Given the description of an element on the screen output the (x, y) to click on. 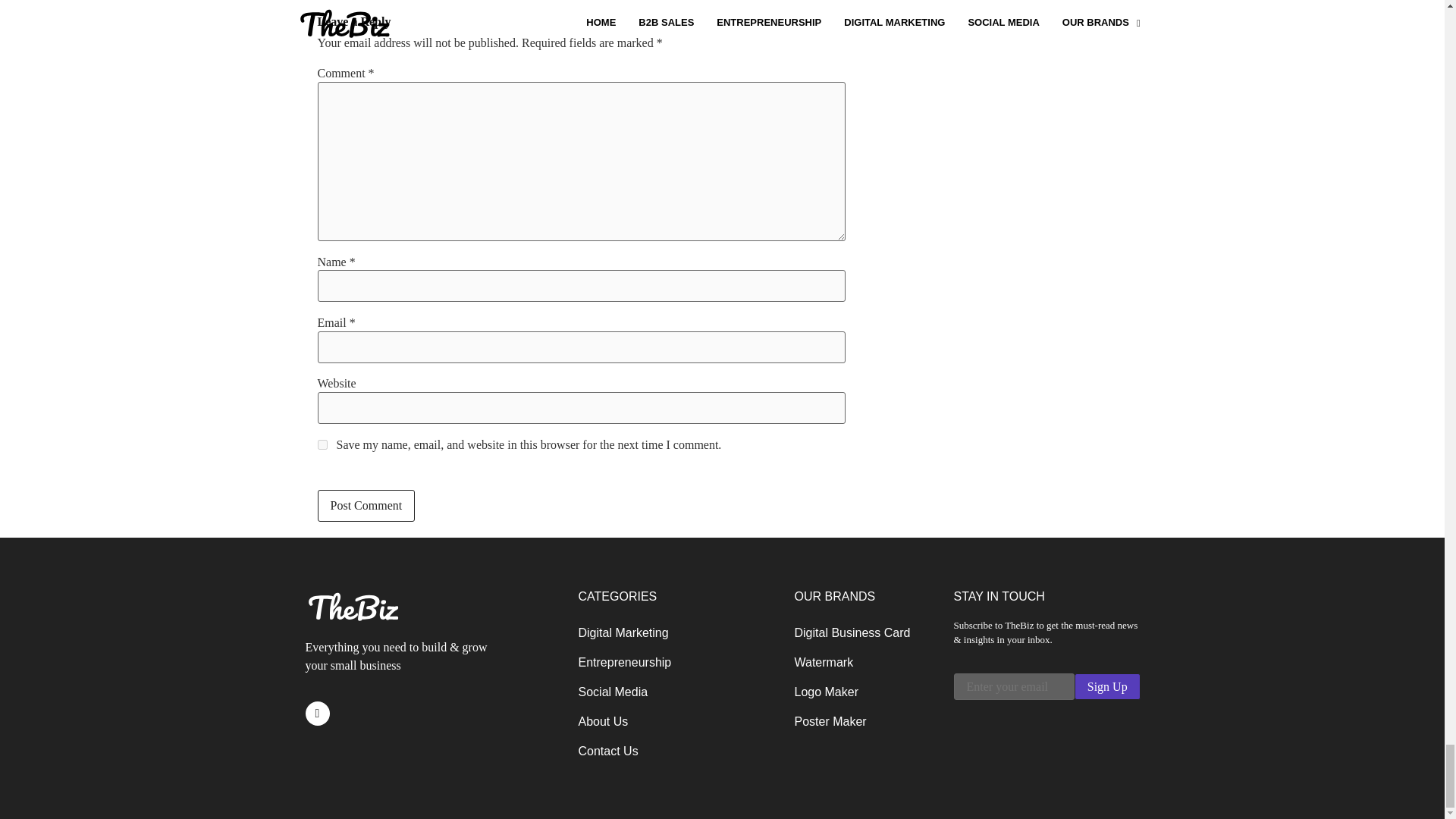
yes (321, 444)
Sign Up (1107, 686)
Post Comment (365, 505)
